Given the description of an element on the screen output the (x, y) to click on. 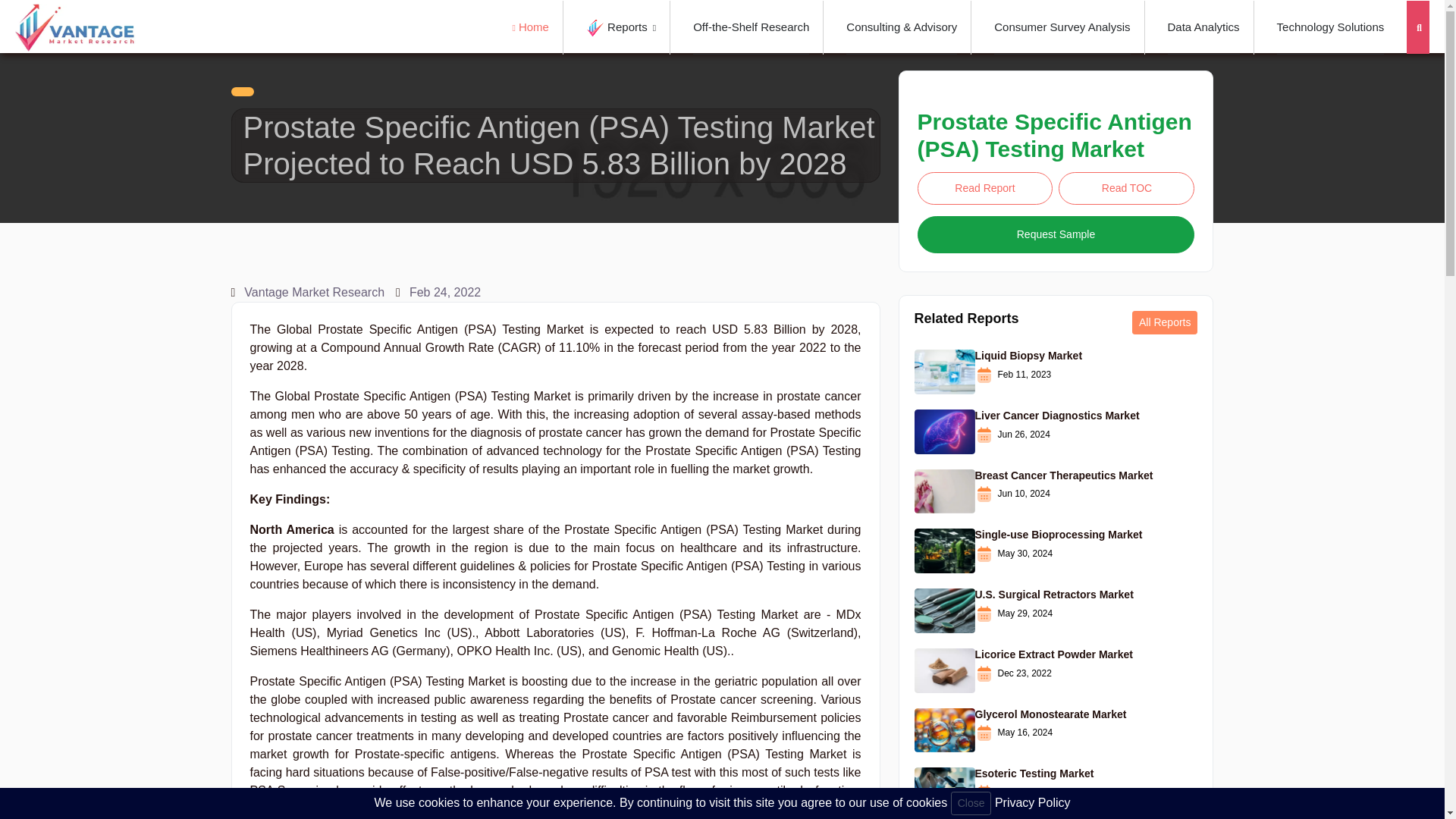
Consumer Survey Analysis (1061, 27)
Data Analytics (1203, 27)
Read TOC (1125, 187)
All Reports (1164, 322)
Read Report (984, 187)
Off-the-Shelf Research (751, 27)
Request Sample (1056, 234)
Reports (621, 27)
Technology Solutions (1330, 27)
